Given the description of an element on the screen output the (x, y) to click on. 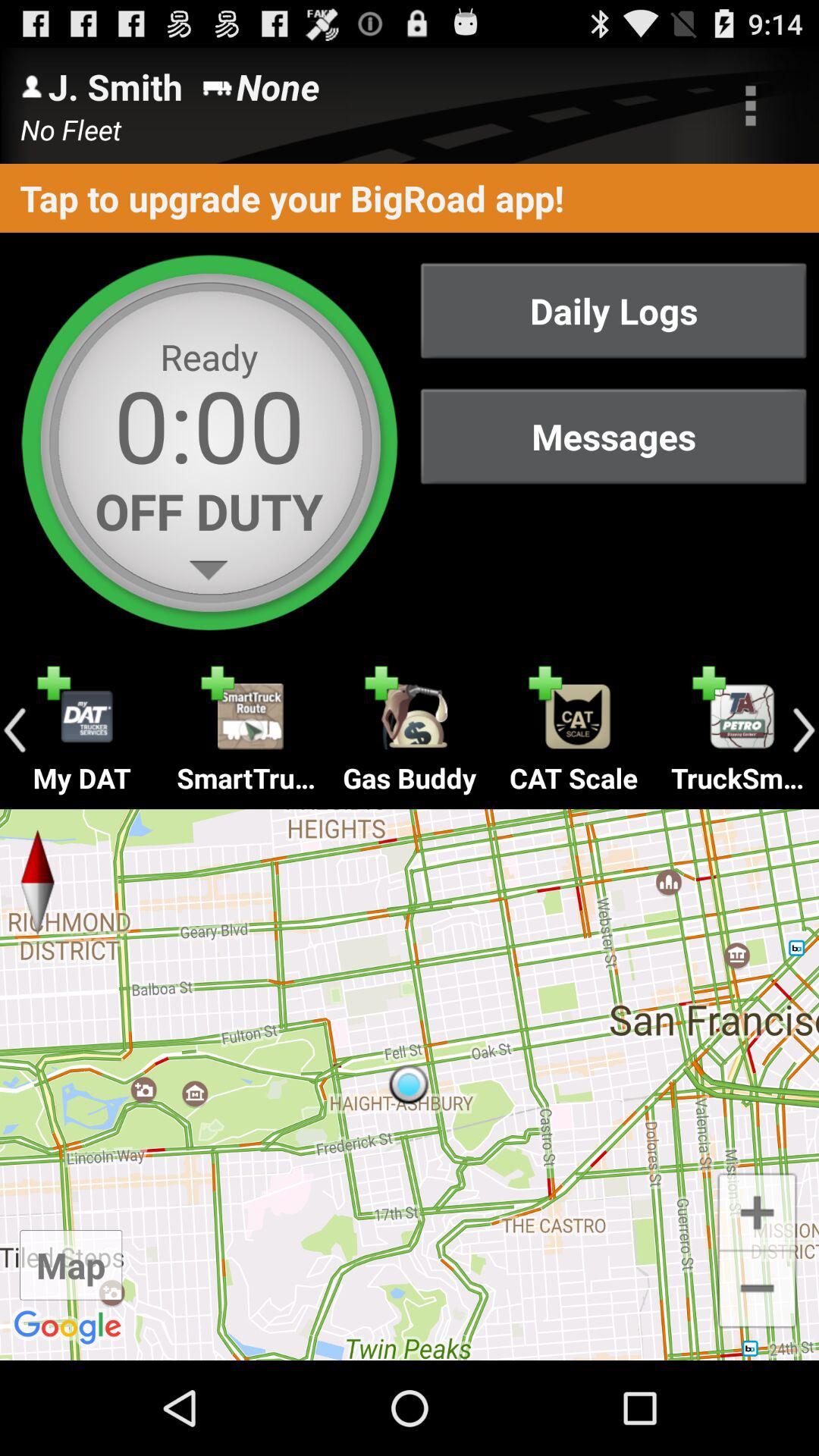
zoom out option (757, 1290)
